Given the description of an element on the screen output the (x, y) to click on. 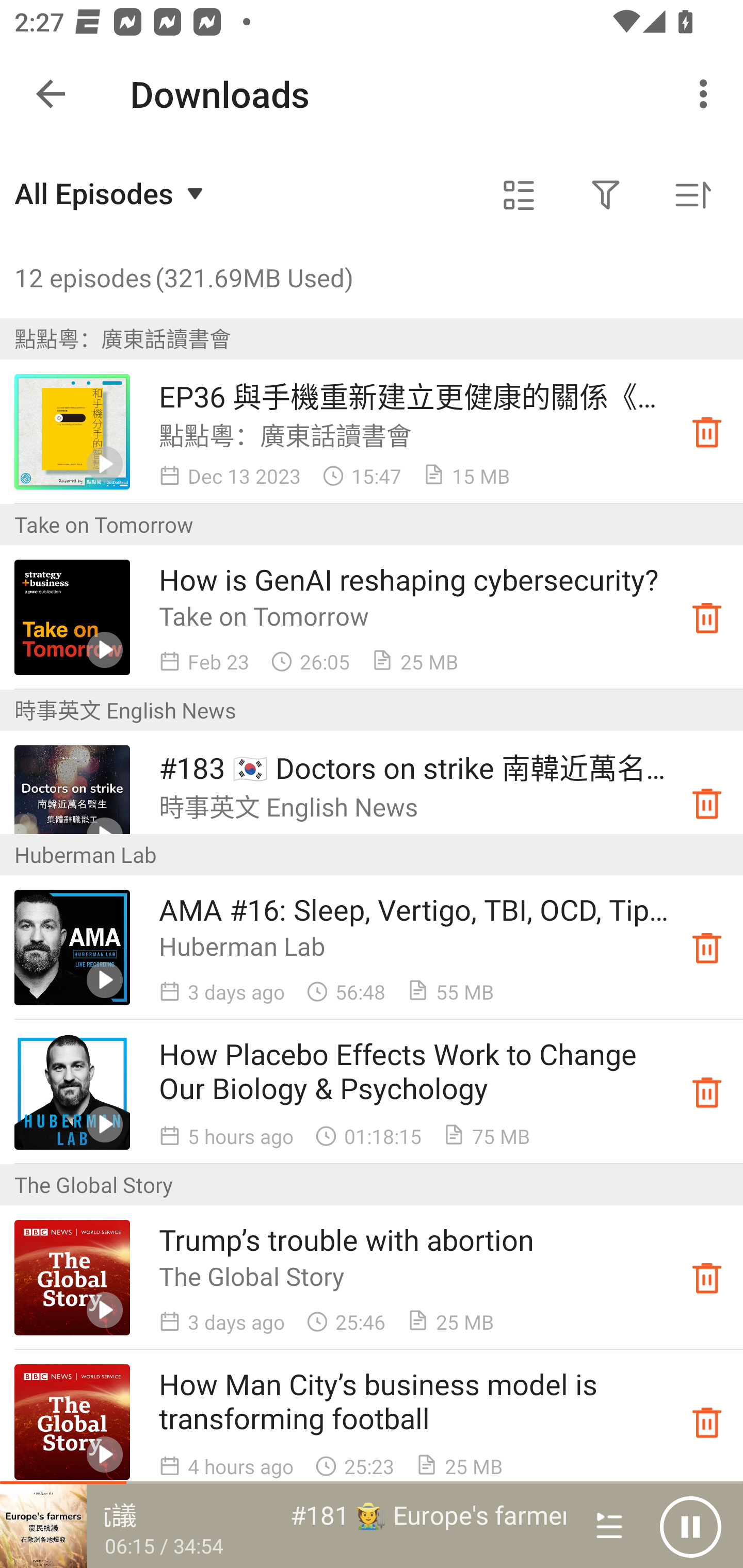
Navigate up (50, 93)
More options (706, 93)
All Episodes (111, 192)
 (518, 195)
 (605, 195)
 Sorted by oldest first (692, 195)
Downloaded (706, 431)
Downloaded (706, 617)
Downloaded (706, 802)
Downloaded (706, 947)
Downloaded (706, 1091)
Downloaded (706, 1277)
Downloaded (706, 1422)
#181 🧑‍🌾 Europe's farmers 歐洲各地爆發農民抗議 06:15 / 34:54 (283, 1525)
Pause (690, 1526)
